Given the description of an element on the screen output the (x, y) to click on. 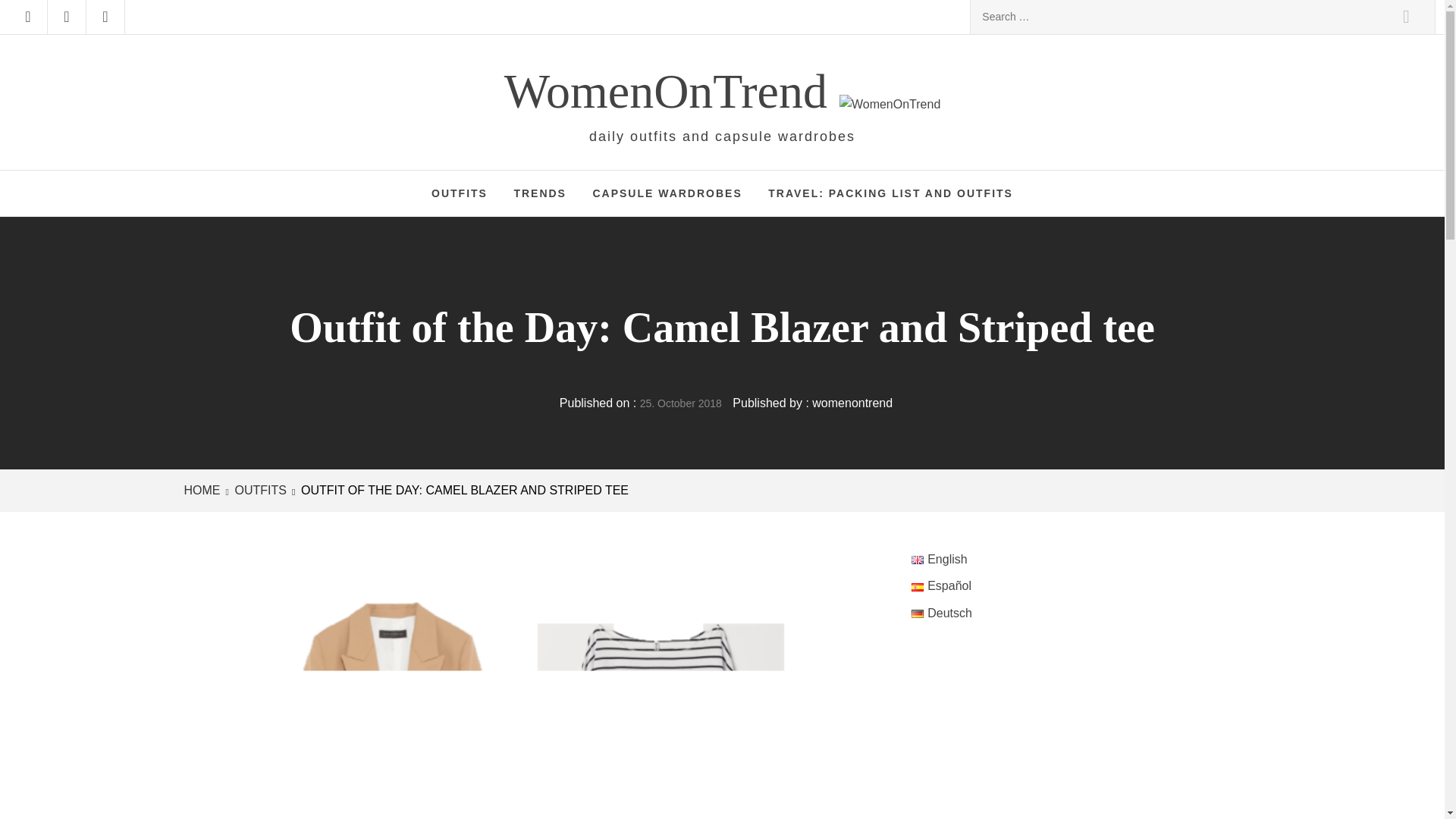
Search (1405, 17)
CAPSULE WARDROBES (666, 193)
TRAVEL: PACKING LIST AND OUTFITS (891, 193)
TRENDS (540, 193)
OUTFITS (258, 490)
womenontrend (852, 402)
Search (1405, 17)
Search (1405, 17)
WomenOnTrend (671, 90)
